Given the description of an element on the screen output the (x, y) to click on. 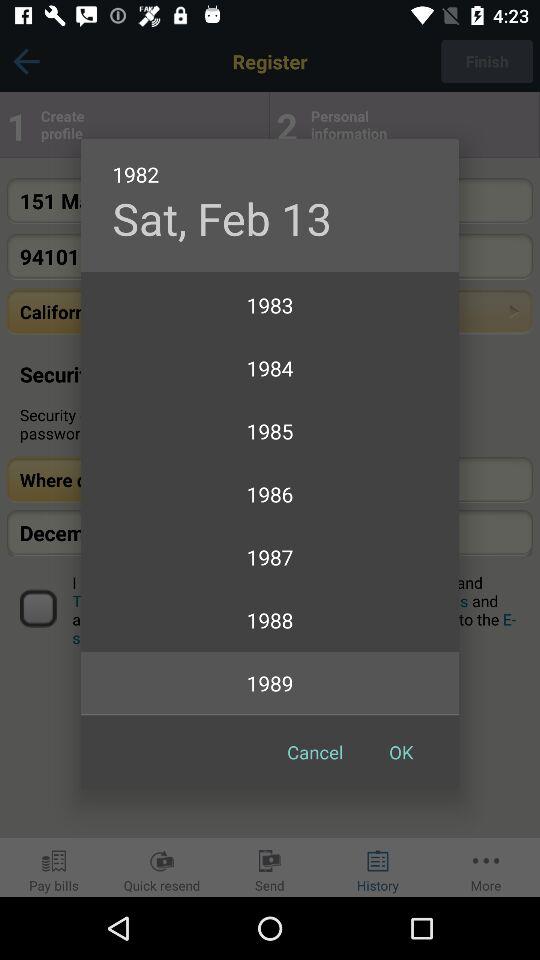
launch ok at the bottom right corner (401, 751)
